Given the description of an element on the screen output the (x, y) to click on. 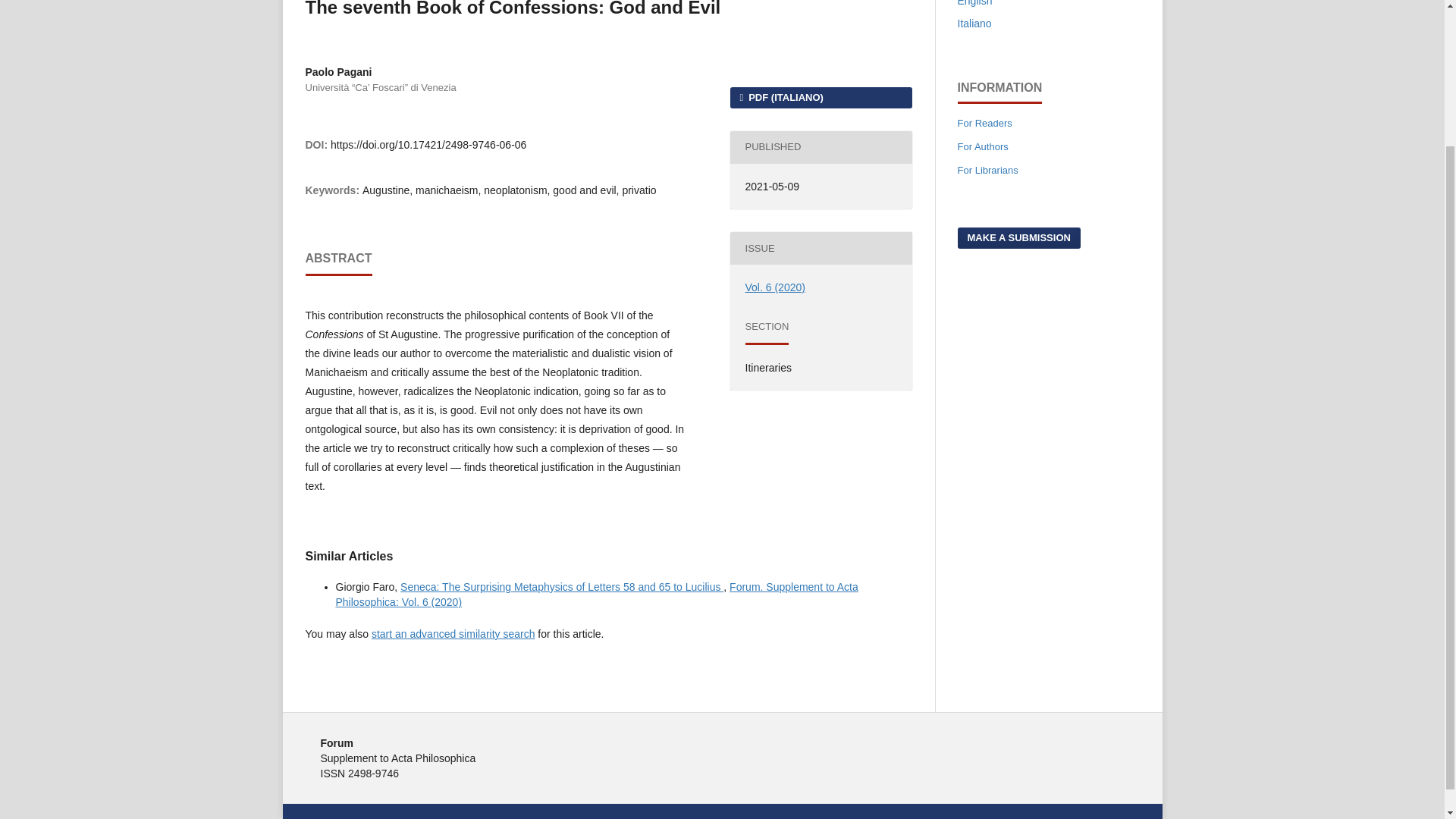
For Authors (981, 146)
Italiano (973, 23)
For Readers (983, 122)
MAKE A SUBMISSION (1018, 237)
For Librarians (986, 170)
English (973, 3)
start an advanced similarity search (453, 633)
